Given the description of an element on the screen output the (x, y) to click on. 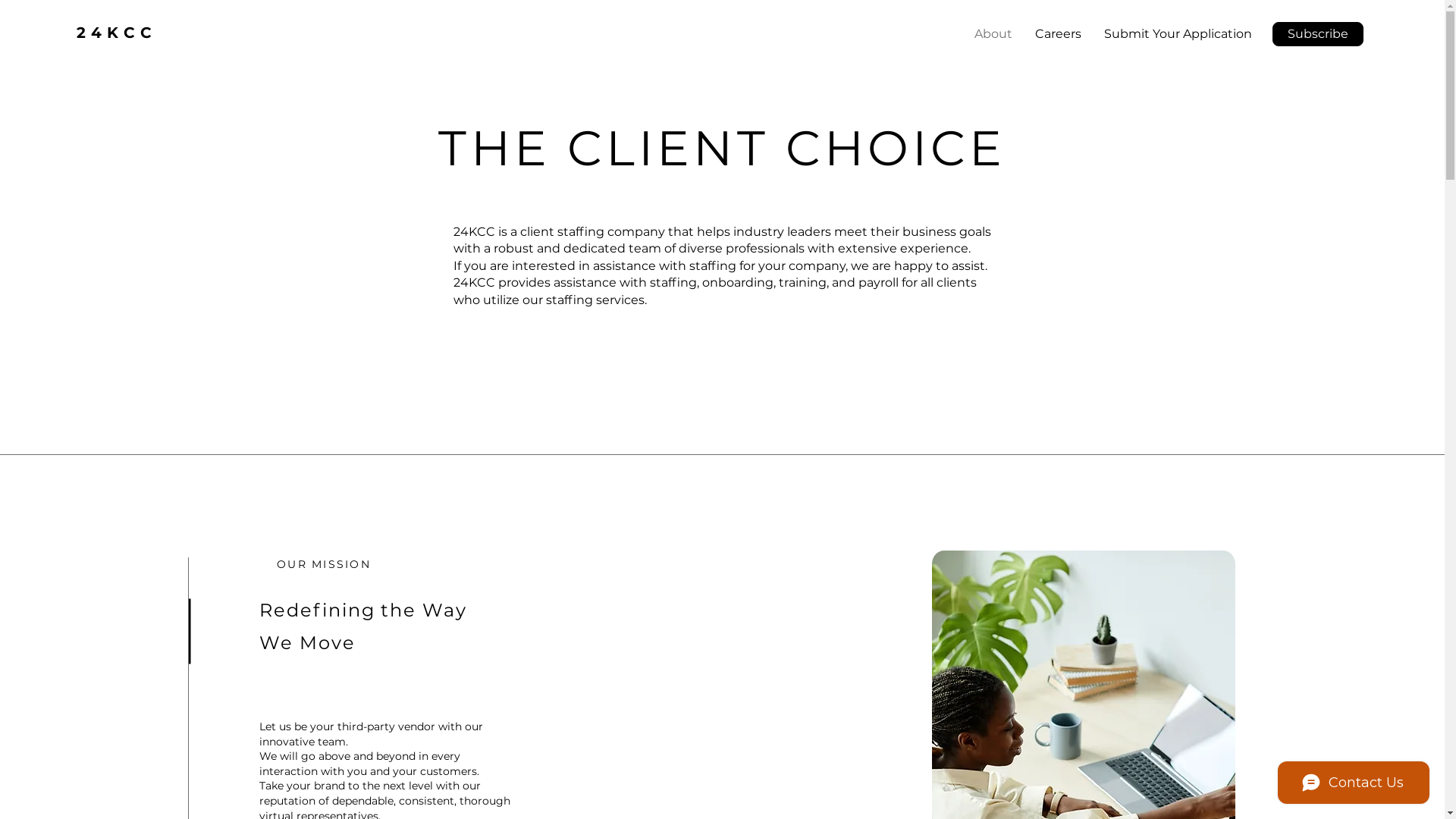
Subscribe Element type: text (1317, 33)
About Element type: text (993, 34)
Submit Your Application Element type: text (1177, 34)
Careers Element type: text (1057, 34)
24KCC Element type: text (116, 32)
